Given the description of an element on the screen output the (x, y) to click on. 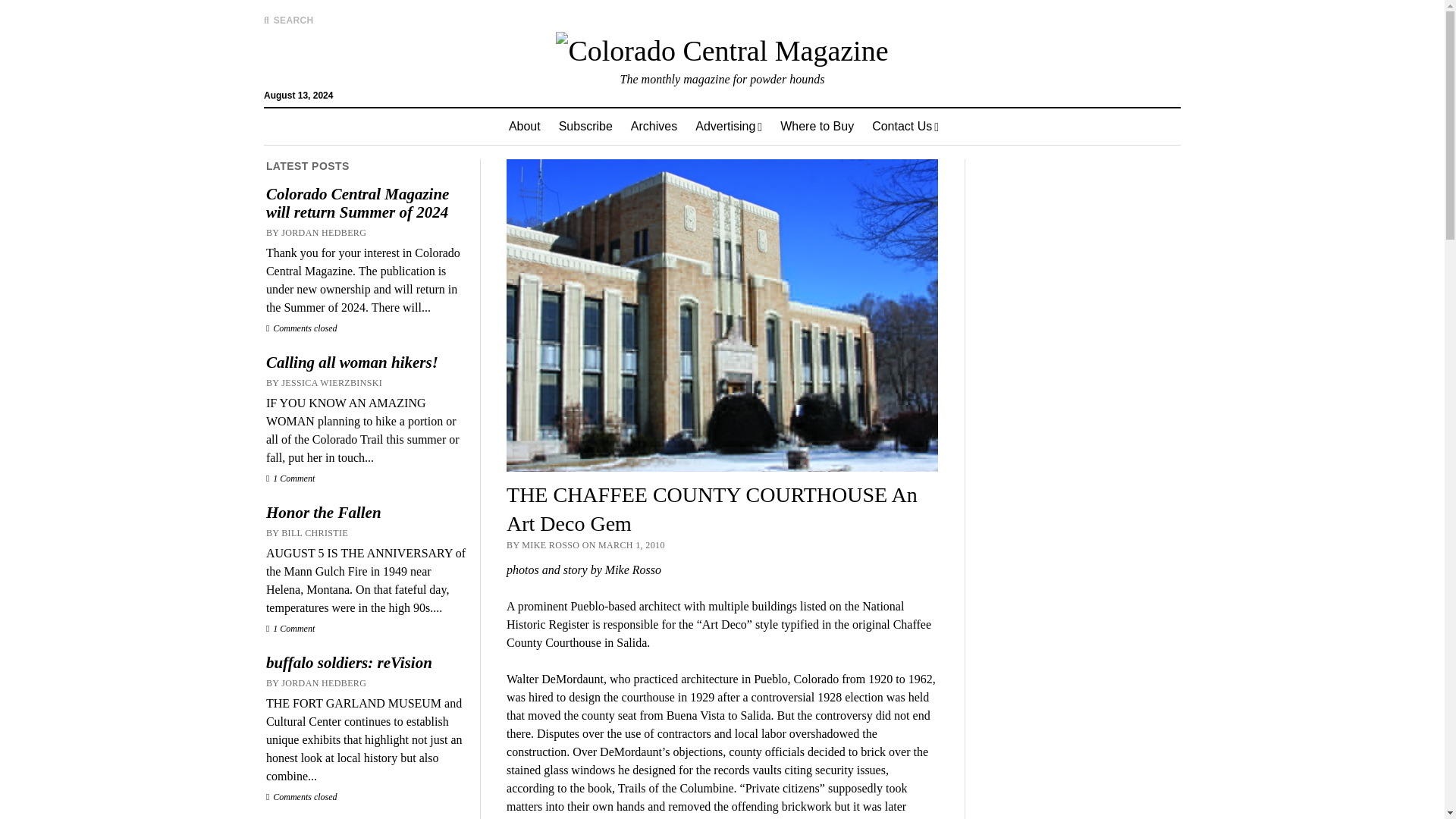
About (524, 126)
Calling all woman hikers! (365, 361)
Honor the Fallen (365, 512)
Archives (653, 126)
1 Comment (290, 478)
1 Comment (290, 628)
Comments closed (301, 796)
Advertising (728, 126)
buffalo soldiers: reVision (365, 662)
Subscribe (585, 126)
